Given the description of an element on the screen output the (x, y) to click on. 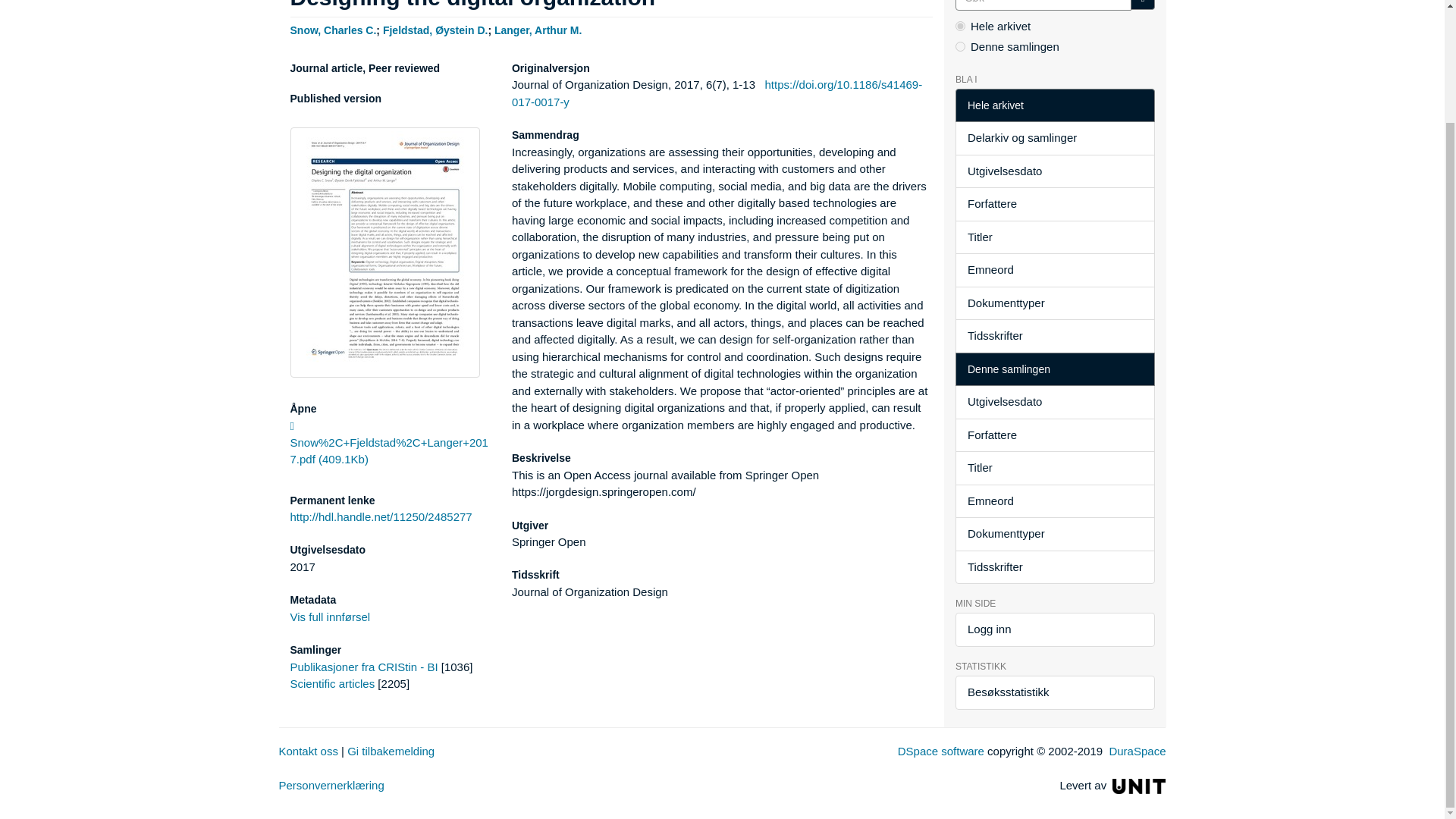
Langer, Arthur M. (537, 30)
Snow, Charles C. (332, 30)
Unit (1139, 784)
Hele arkivet (1054, 105)
Publikasjoner fra CRIStin - BI (363, 666)
Utgivelsesdato (1054, 171)
Forfattere (1054, 204)
Scientific articles (331, 683)
Delarkiv og samlinger (1054, 138)
